Given the description of an element on the screen output the (x, y) to click on. 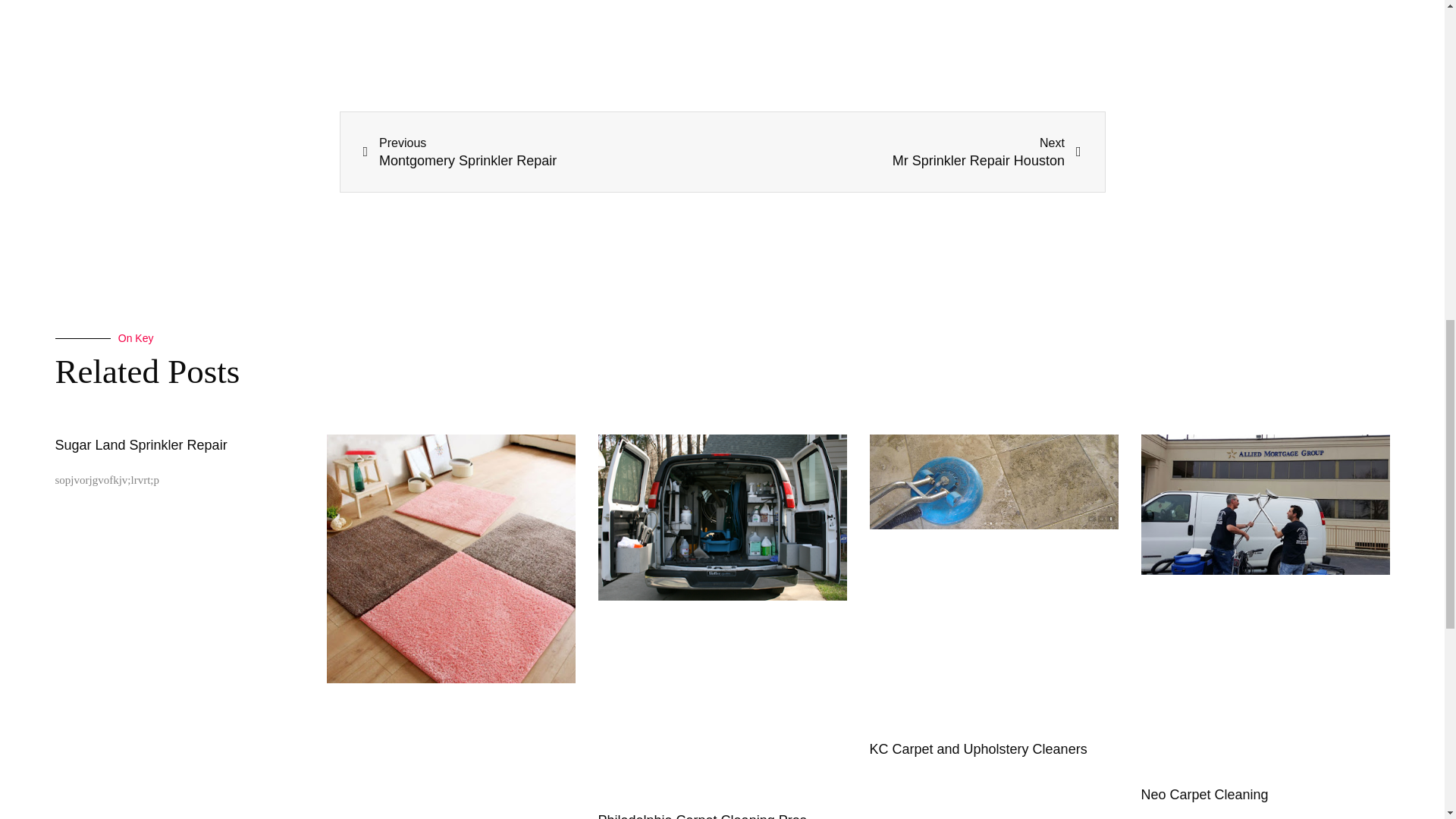
Neo Carpet Cleaning (1204, 794)
KC Carpet and Upholstery Cleaners (977, 749)
Sugar Land Sprinkler Repair (141, 444)
Philadelphia Carpet Cleaning Pros (901, 151)
